Given the description of an element on the screen output the (x, y) to click on. 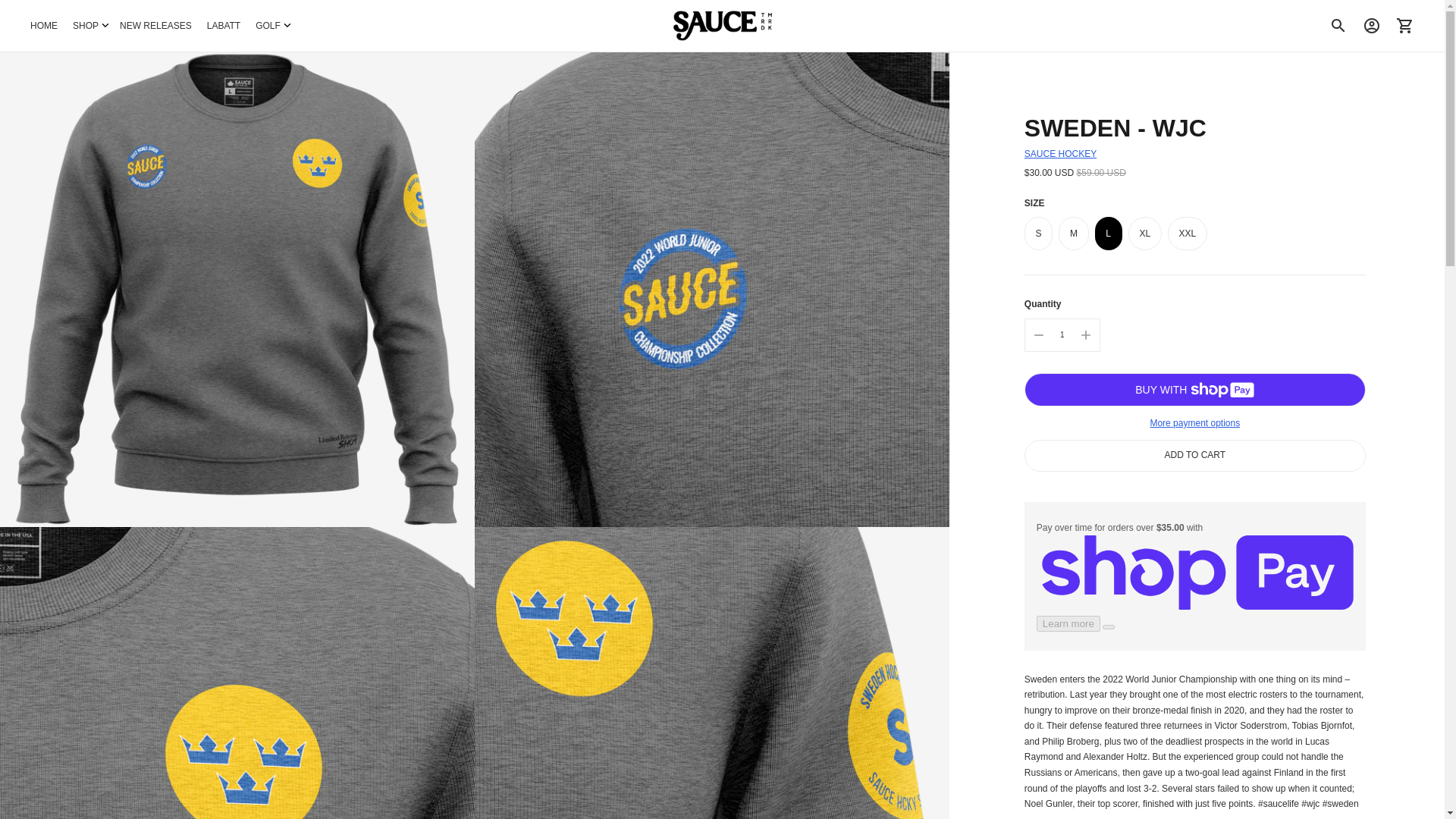
NEW RELEASES (155, 25)
Account (1372, 25)
SAUCE HOCKEY (1060, 153)
LABATT (223, 25)
SHOP (88, 25)
Search (1338, 25)
Cart (1405, 25)
